Given the description of an element on the screen output the (x, y) to click on. 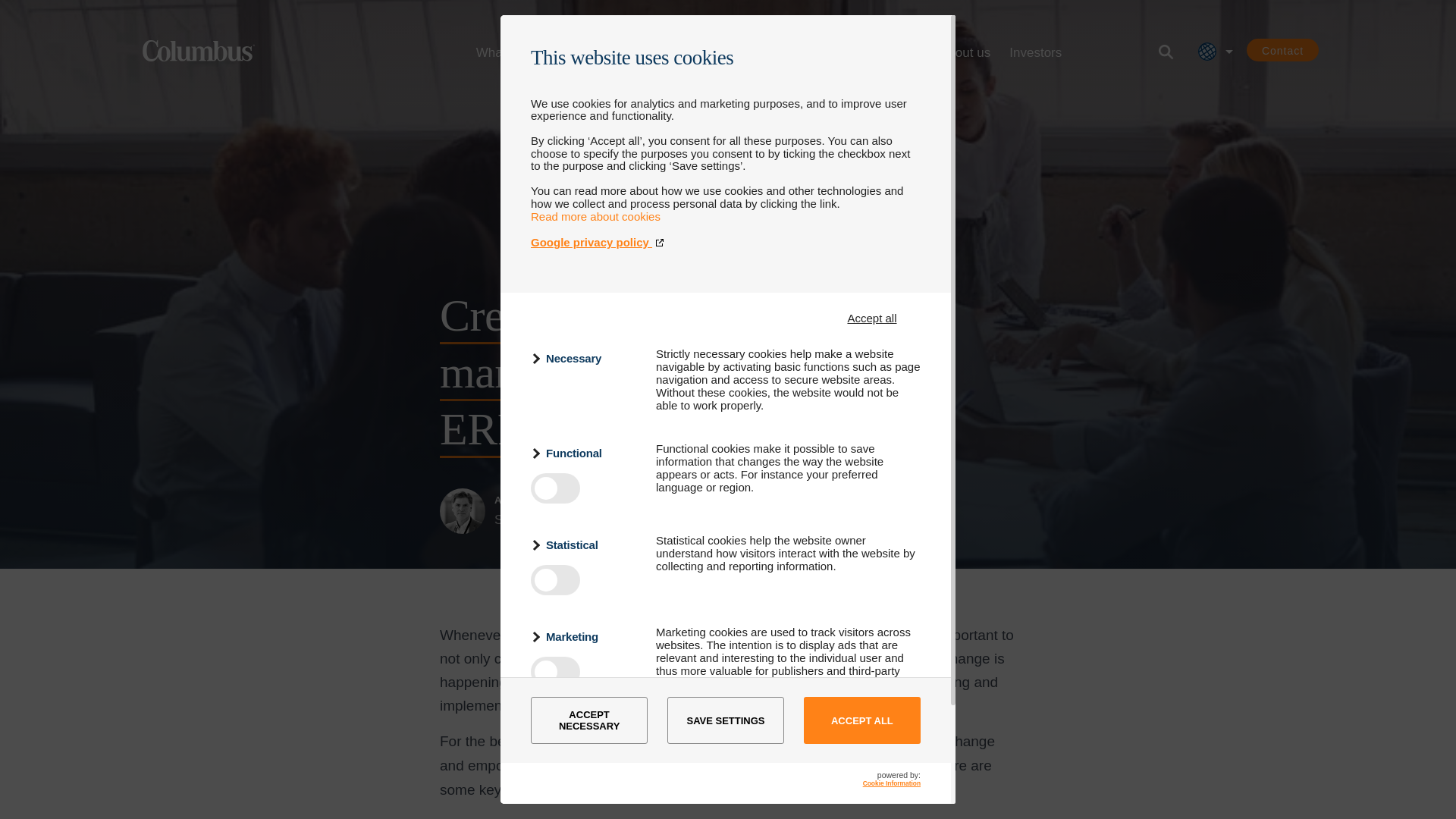
Read more about cookies (596, 215)
Necessary (584, 358)
Functional (584, 453)
Statistical (584, 544)
Marketing (584, 636)
Google privacy policy (725, 242)
Accept all (872, 318)
